Given the description of an element on the screen output the (x, y) to click on. 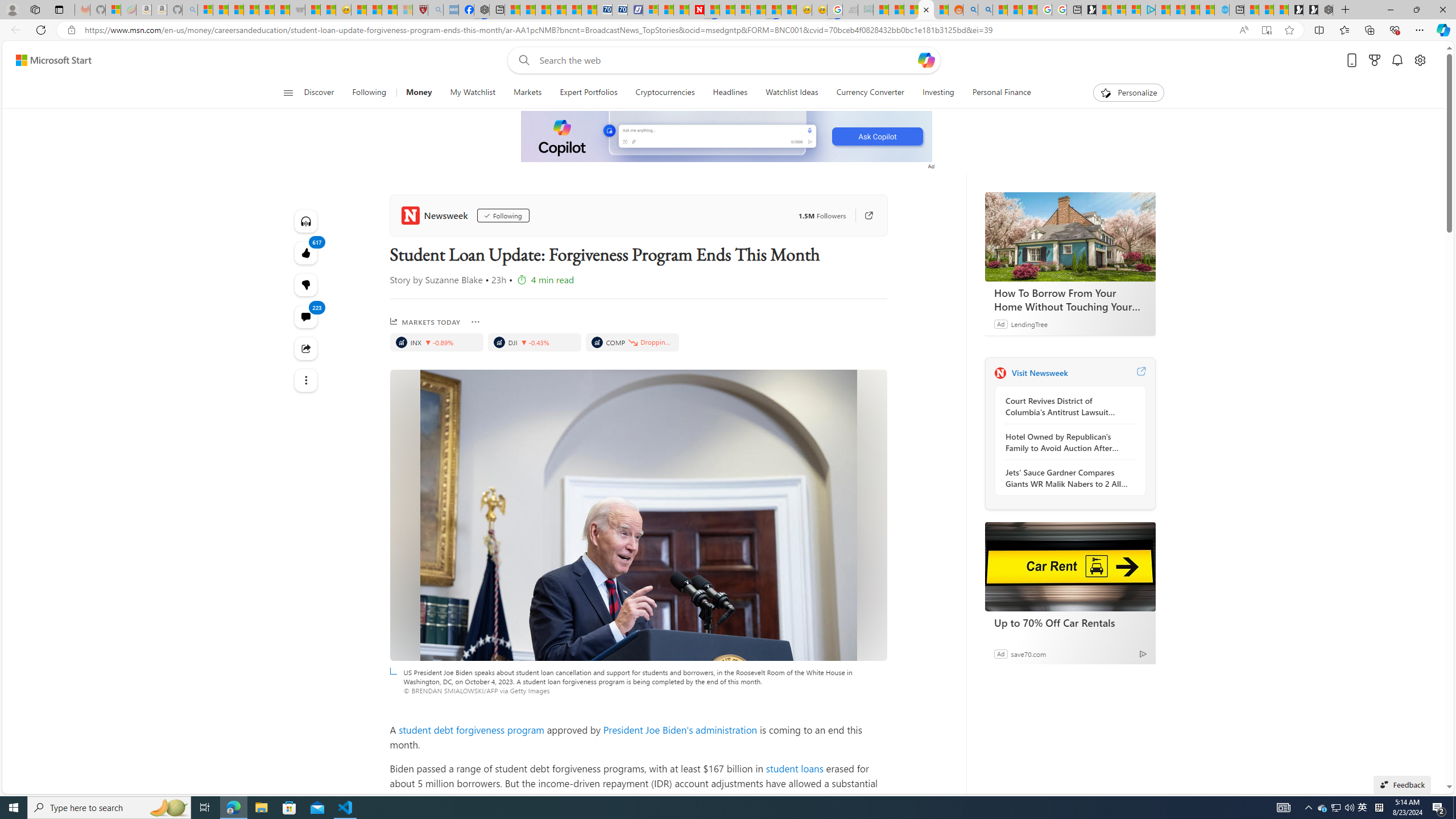
Personal Finance (996, 92)
Watchlist Ideas (791, 92)
Go to publisher's site (863, 215)
student debt forgiveness program (471, 729)
